Given the description of an element on the screen output the (x, y) to click on. 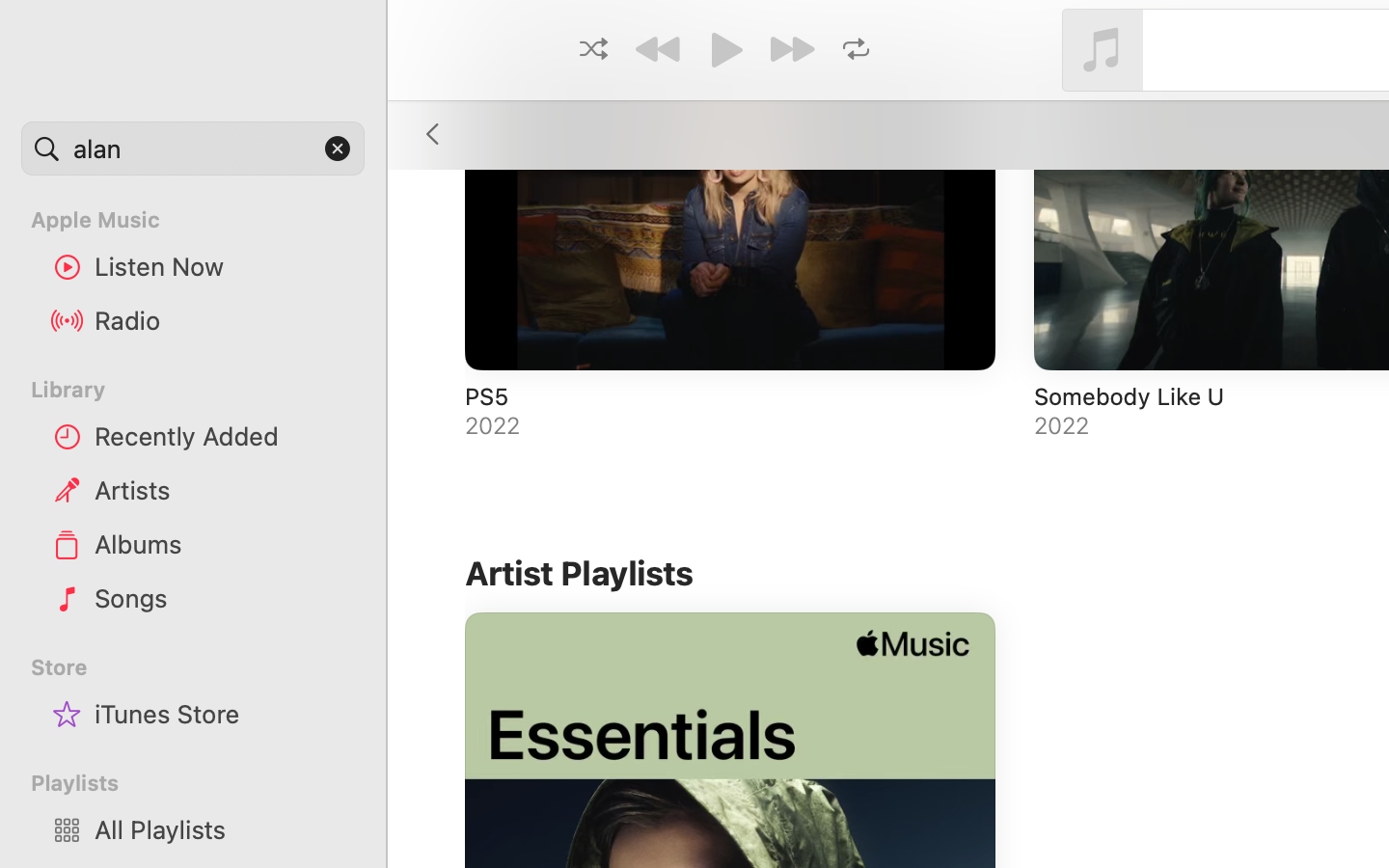
Apple Music Element type: AXStaticText (204, 219)
iTunes Store Element type: AXStaticText (222, 713)
Store Element type: AXStaticText (204, 666)
Artists Element type: AXStaticText (222, 489)
Albums Element type: AXStaticText (222, 543)
